Given the description of an element on the screen output the (x, y) to click on. 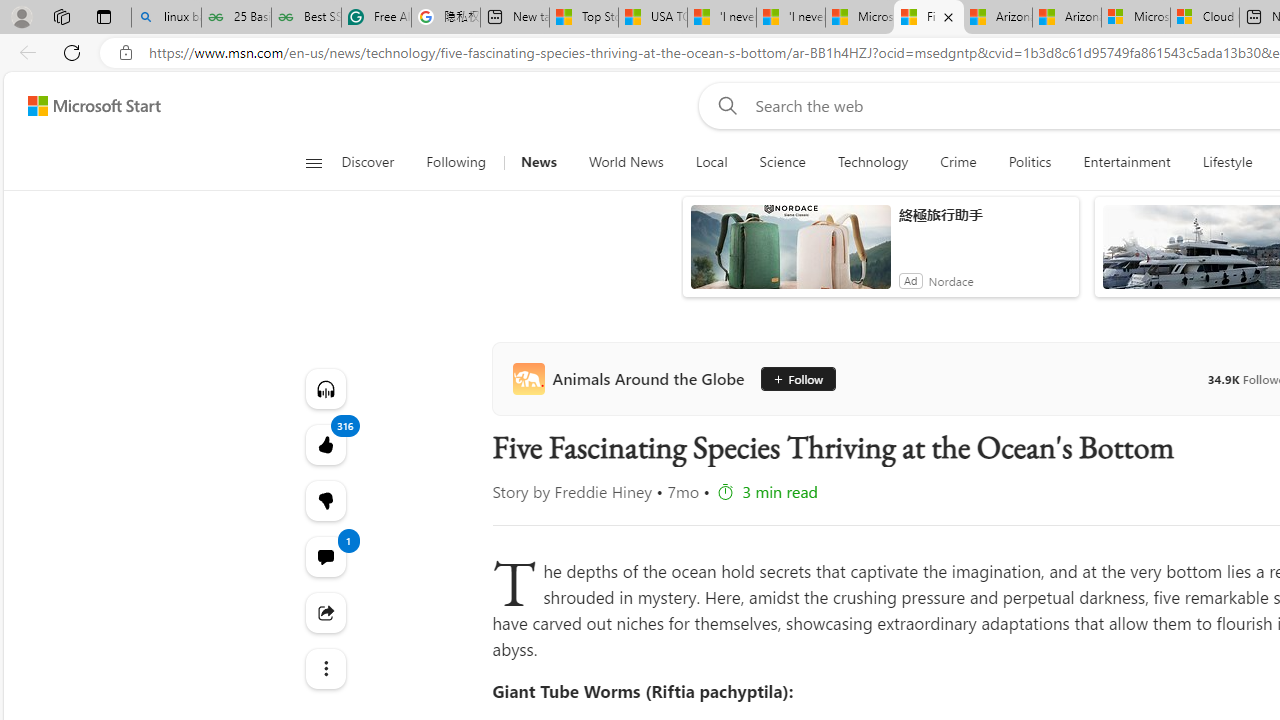
Class: button-glyph (313, 162)
316 Like (324, 444)
Politics (1029, 162)
Entertainment (1126, 162)
